Given the description of an element on the screen output the (x, y) to click on. 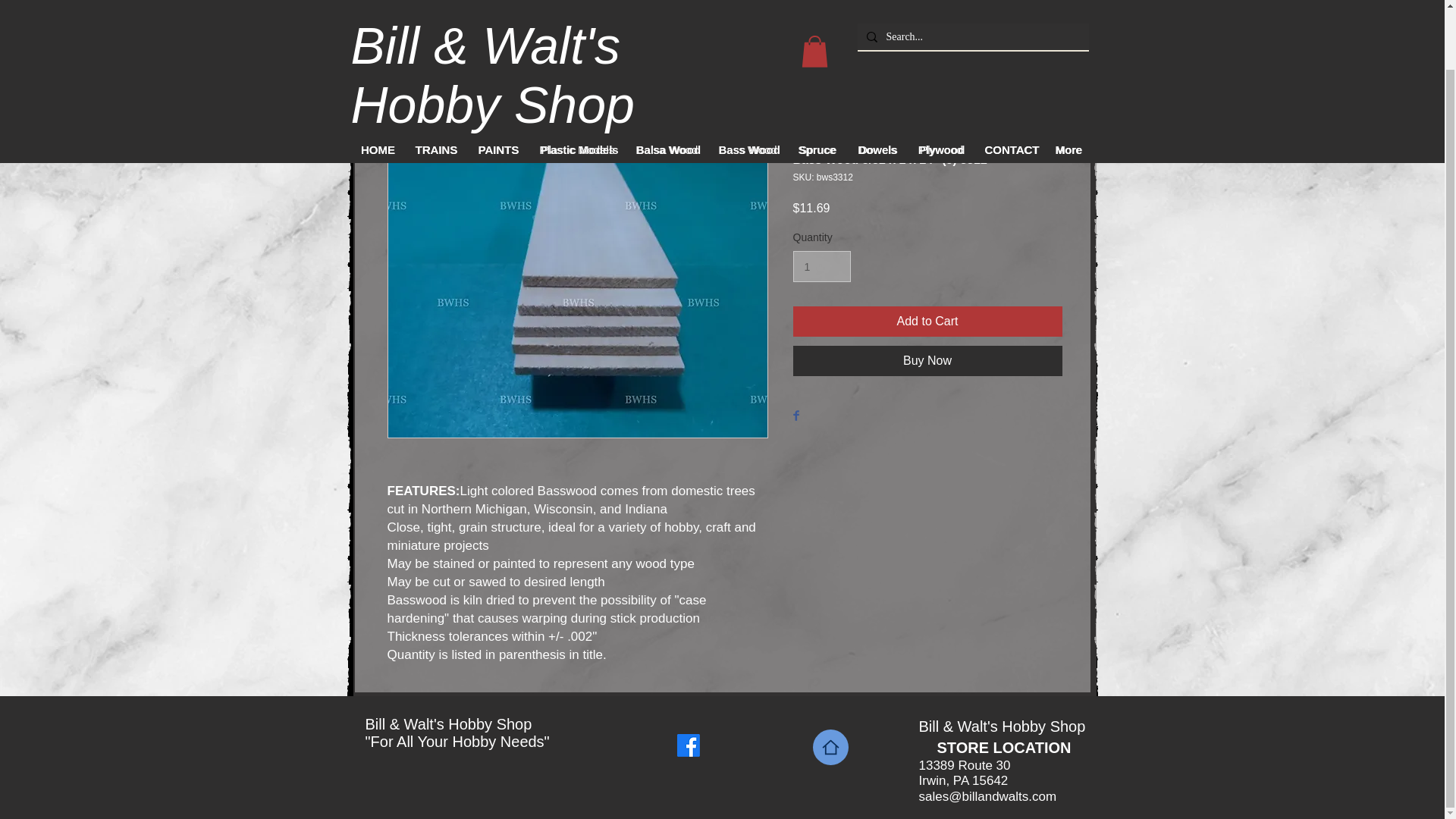
HOME (377, 85)
Plastic Models (577, 85)
PAINTS (498, 85)
1 (821, 265)
TRAINS (435, 85)
Facebook Like (735, 744)
